Given the description of an element on the screen output the (x, y) to click on. 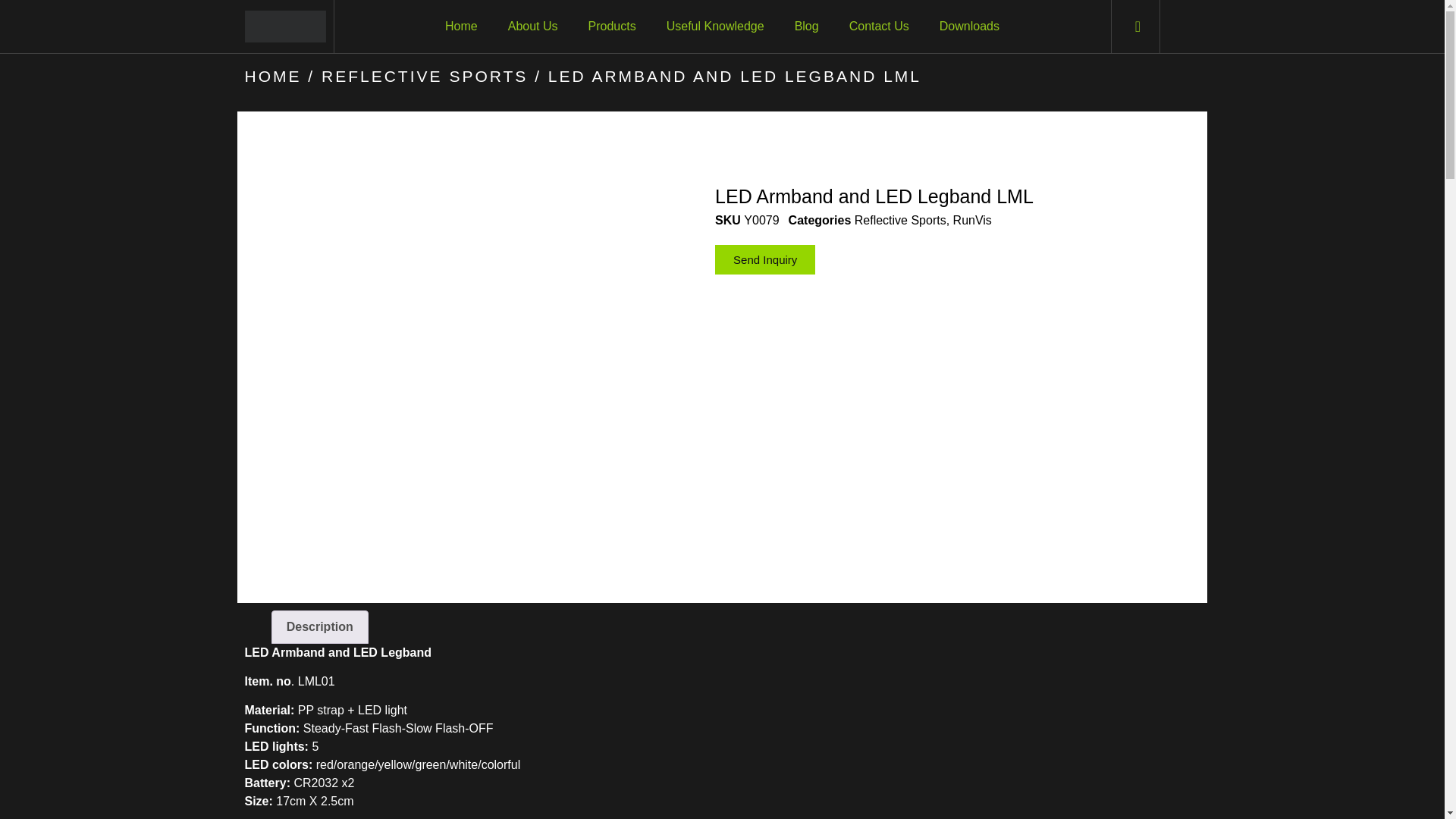
Useful Knowledge (714, 26)
About Us (533, 26)
Blog (806, 26)
Downloads (969, 26)
Home (461, 26)
Contact Us (879, 26)
Products (611, 26)
